Given the description of an element on the screen output the (x, y) to click on. 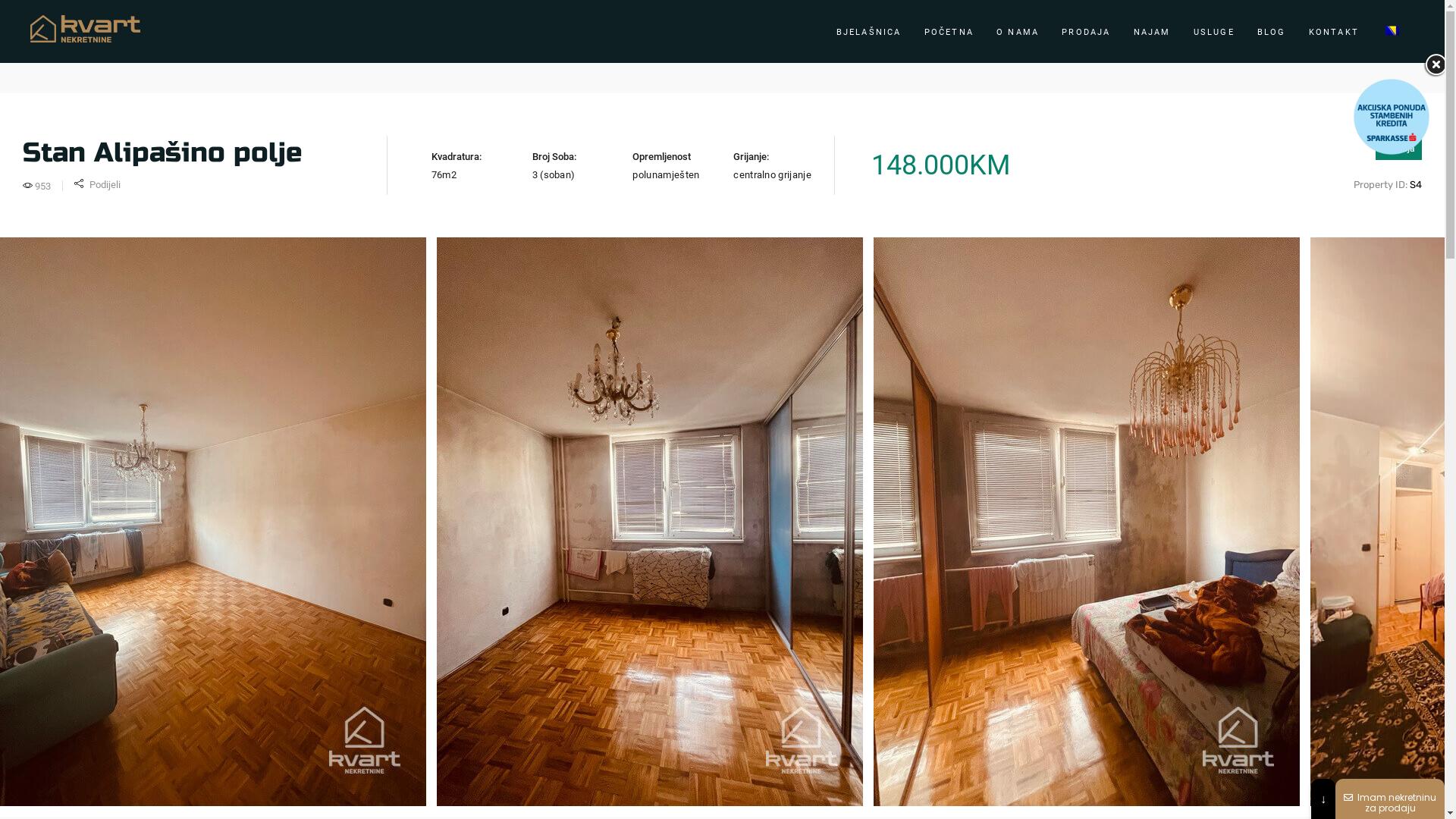
Podijeli Element type: text (97, 184)
Submit Element type: text (1330, 792)
PRODAJA Element type: text (1085, 31)
KONTAKT Element type: text (1333, 31)
NAJAM Element type: text (1152, 31)
USLUGE Element type: text (1213, 31)
O NAMA Element type: text (1017, 31)
Bosnian Element type: hover (1392, 29)
BLOG Element type: text (1271, 31)
